Given the description of an element on the screen output the (x, y) to click on. 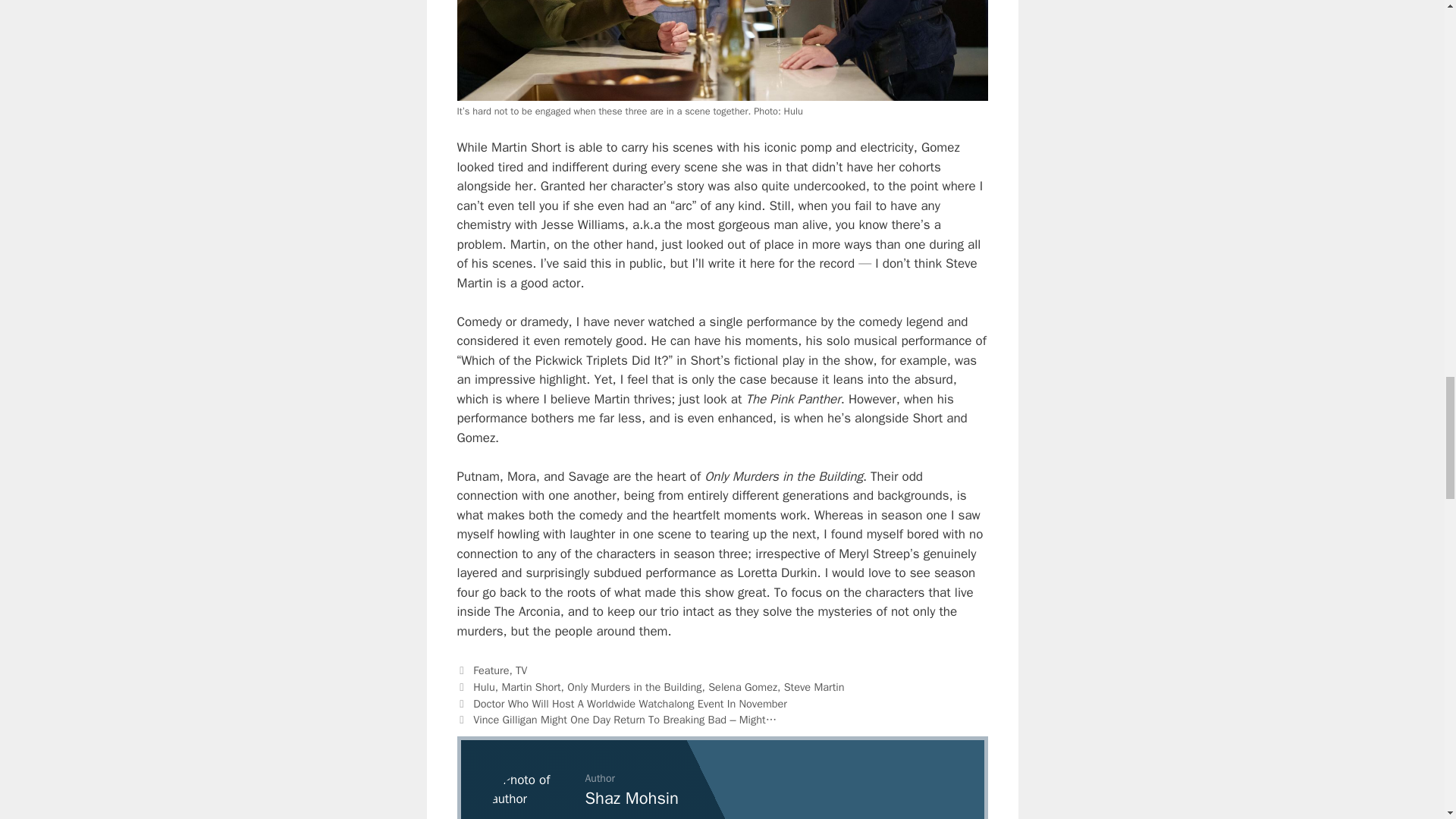
Hulu (484, 686)
Only Murders in the Building (634, 686)
Martin Short (530, 686)
Steve Martin (814, 686)
Selena Gomez (742, 686)
Feature (490, 670)
